Given the description of an element on the screen output the (x, y) to click on. 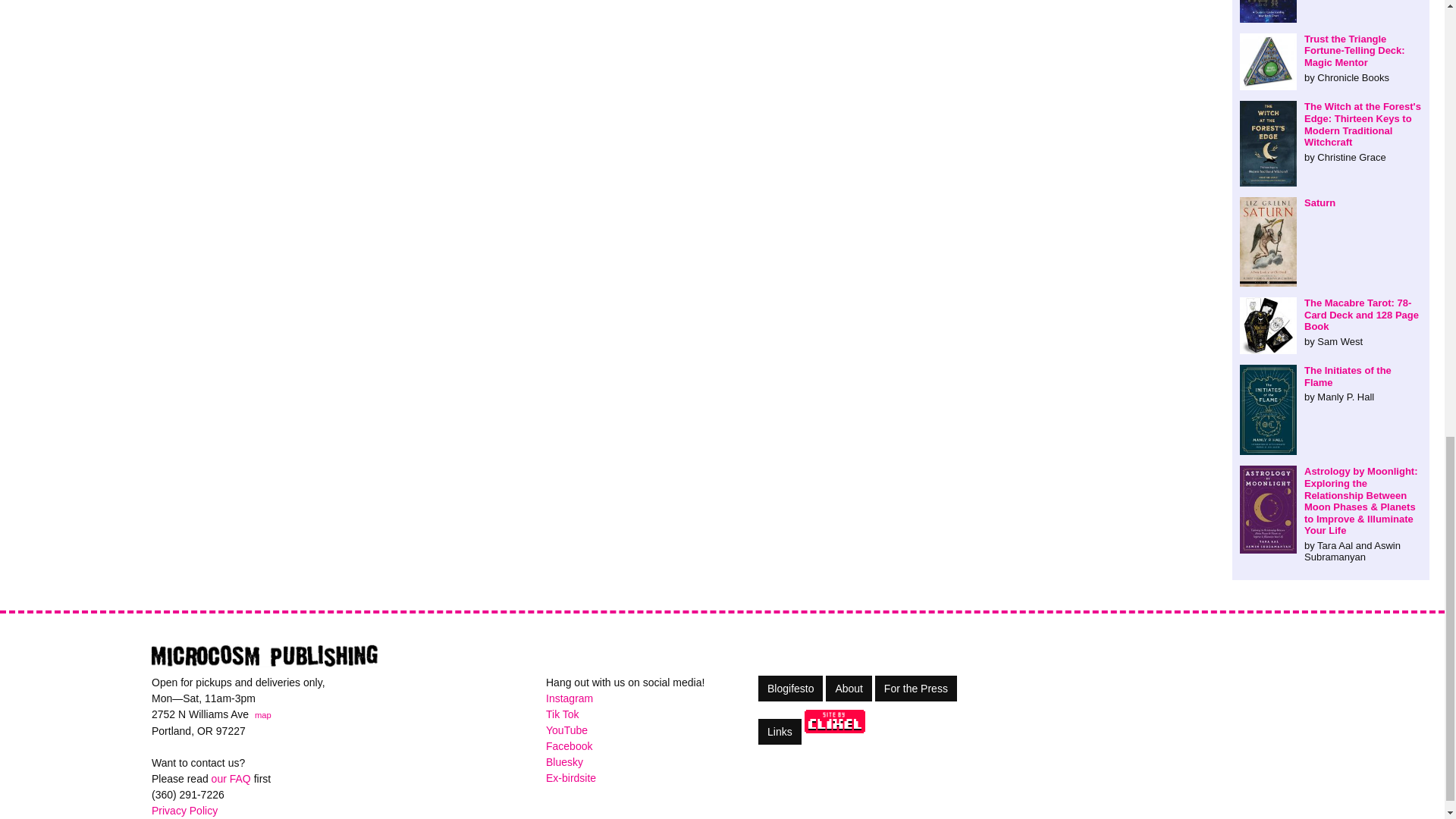
Saturn (1331, 203)
The Macabre Tarot: 78-Card Deck and 128 Page Book (1331, 322)
The Initiates of the Flame (1331, 383)
Trust the Triangle Fortune-Telling Deck: Magic Mentor (1331, 58)
